Given the description of an element on the screen output the (x, y) to click on. 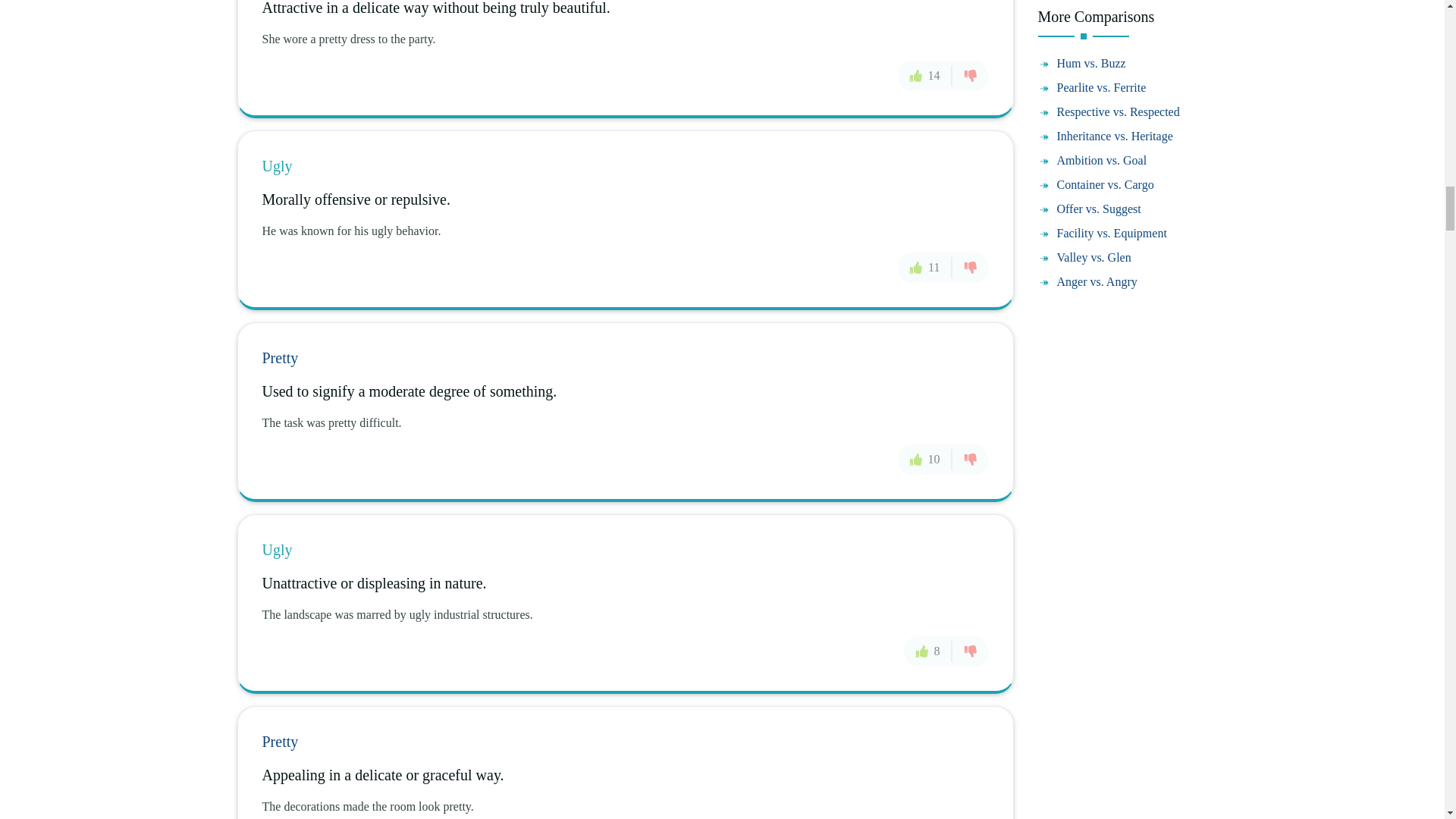
11 (925, 267)
14 (925, 75)
10 (925, 459)
8 (928, 651)
